Given the description of an element on the screen output the (x, y) to click on. 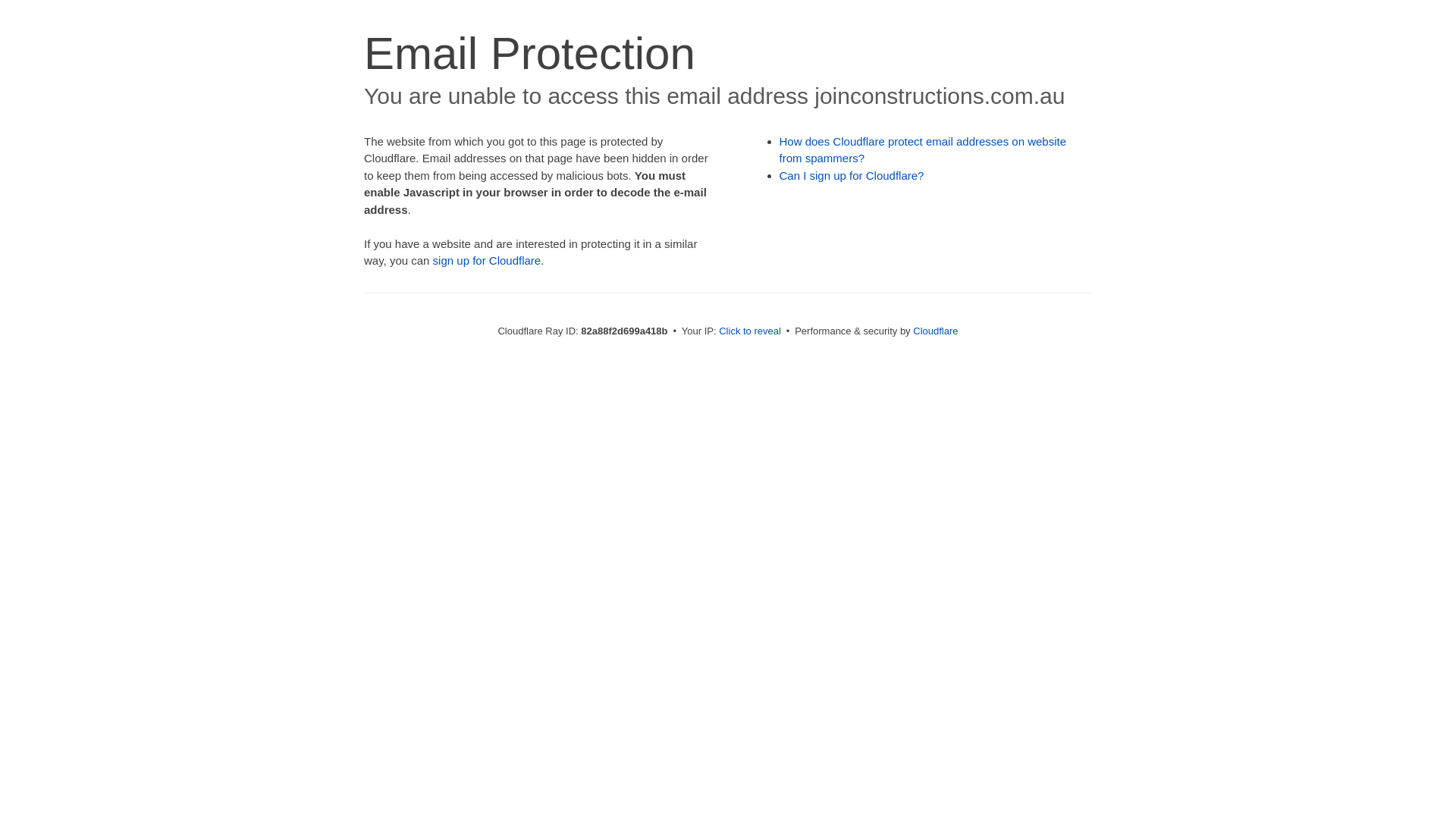
Can I sign up for Cloudflare? Element type: text (851, 175)
Click to reveal Element type: text (749, 330)
Cloudflare Element type: text (935, 330)
sign up for Cloudflare Element type: text (487, 260)
